Given the description of an element on the screen output the (x, y) to click on. 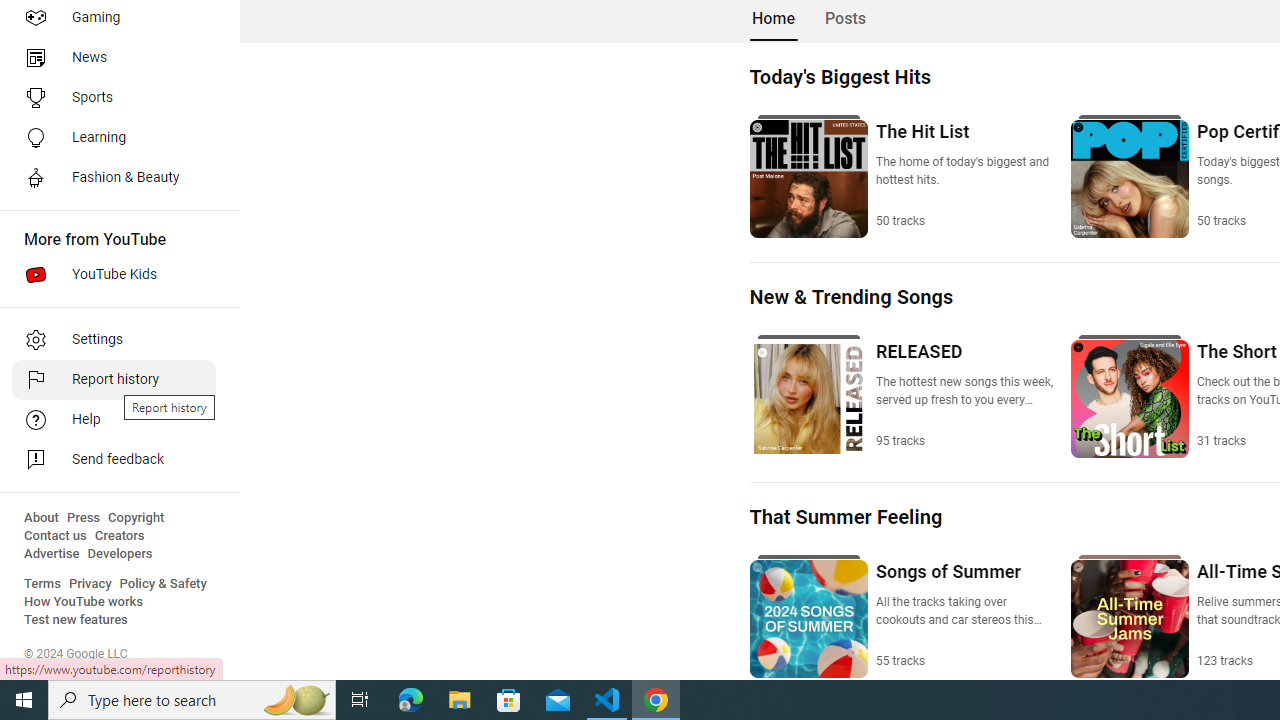
Copyright (136, 518)
Policy & Safety (163, 584)
Test new features (76, 620)
That Summer Feeling (845, 517)
Send feedback (113, 459)
How YouTube works (83, 602)
Report history (113, 380)
Today's Biggest Hits (839, 76)
Learning (113, 137)
Developers (120, 554)
Fashion & Beauty (113, 177)
